Given the description of an element on the screen output the (x, y) to click on. 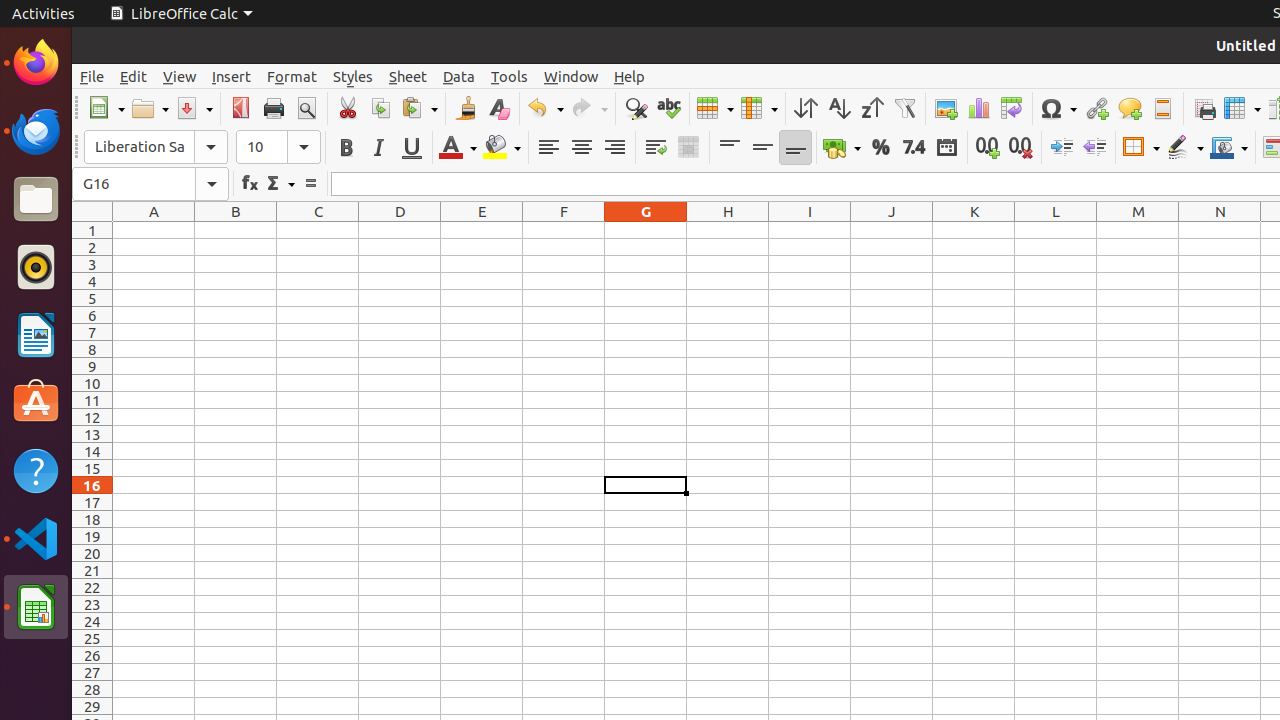
AutoFilter Element type: push-button (904, 108)
Find & Replace Element type: toggle-button (635, 108)
Rhythmbox Element type: push-button (36, 267)
Paste Element type: push-button (419, 108)
Clear Element type: push-button (498, 108)
